Given the description of an element on the screen output the (x, y) to click on. 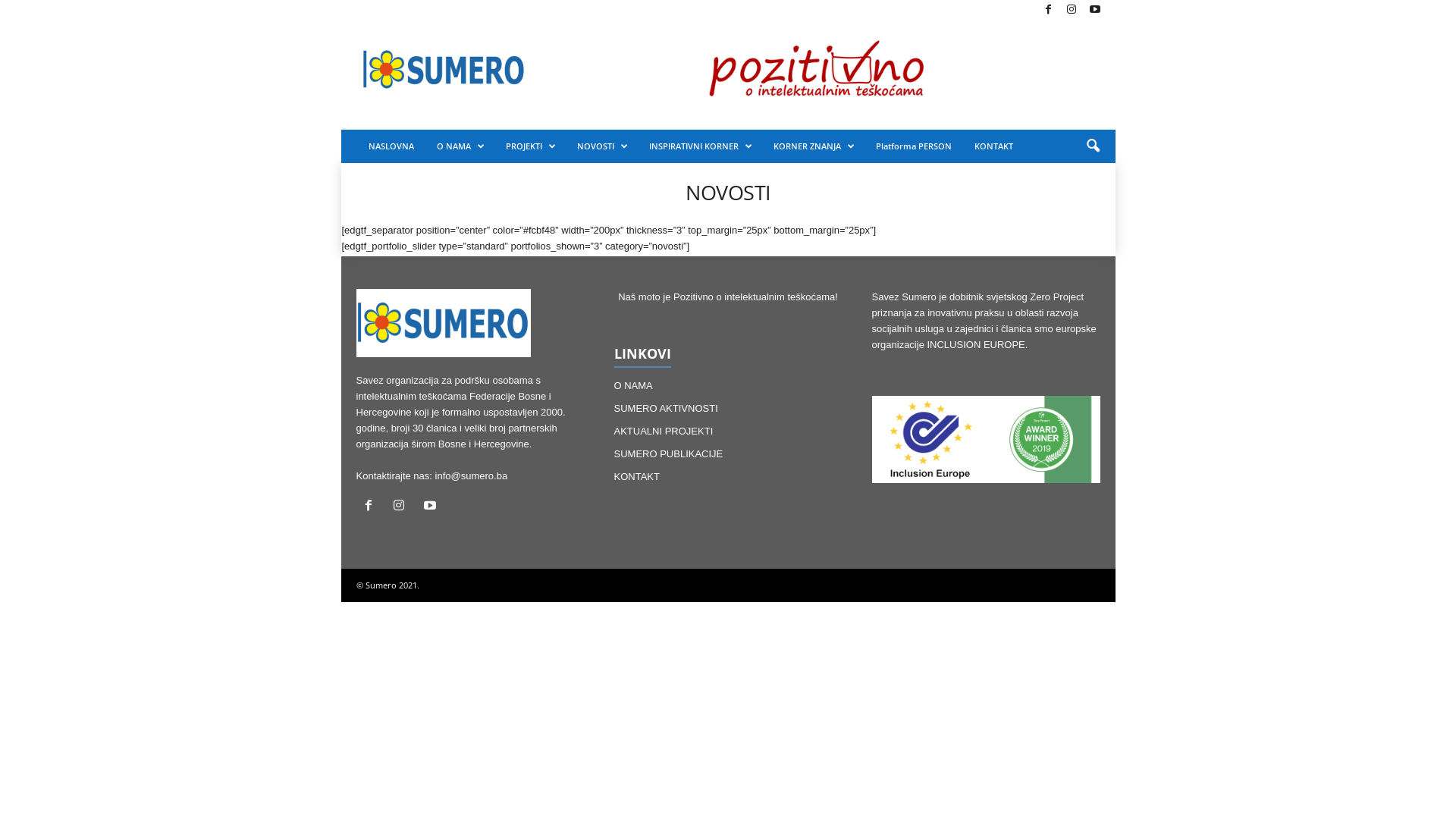
Youtube Element type: hover (431, 506)
O NAMA Element type: text (458, 146)
INSPIRATIVNI KORNER Element type: text (699, 146)
Savez Sumero Element type: hover (443, 322)
Youtube Element type: hover (1094, 10)
NOVOSTI Element type: text (601, 146)
Savez Sumero Element type: hover (444, 69)
SUMERO PUBLIKACIJE Element type: text (668, 453)
Platforma PERSON Element type: text (913, 146)
PROJEKTI Element type: text (529, 146)
KONTAKT Element type: text (636, 476)
SUMERO AKTIVNOSTI Element type: text (666, 408)
Instagram Element type: hover (1071, 10)
KONTAKT Element type: text (993, 146)
KORNER ZNANJA Element type: text (812, 146)
SAVEZ SUMERO Element type: text (444, 69)
Facebook Element type: hover (1047, 10)
AKTUALNI PROJEKTI Element type: text (663, 430)
O NAMA Element type: text (633, 385)
NASLOVNA Element type: text (390, 146)
Instagram Element type: hover (401, 506)
info@sumero.ba Element type: text (471, 475)
Facebook Element type: hover (371, 506)
